Given the description of an element on the screen output the (x, y) to click on. 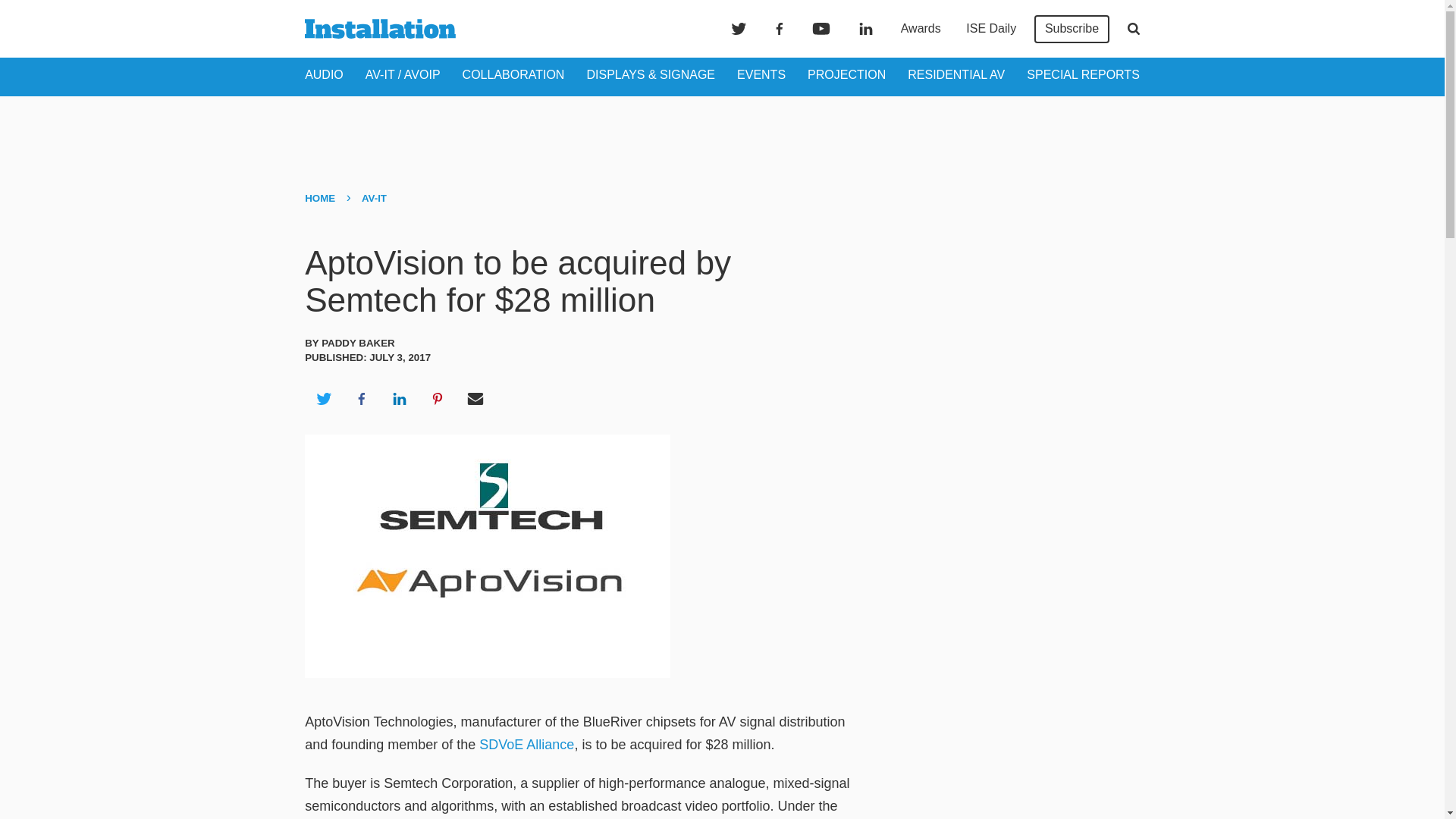
Paddy Baker's Author Profile (357, 342)
COLLABORATION (513, 74)
Share on Facebook (361, 398)
Share via Email (476, 398)
AUDIO (323, 74)
Share on LinkedIn (399, 398)
Awards (921, 29)
ISE Daily (990, 29)
Subscribe (1071, 29)
Share on Twitter (323, 398)
